Given the description of an element on the screen output the (x, y) to click on. 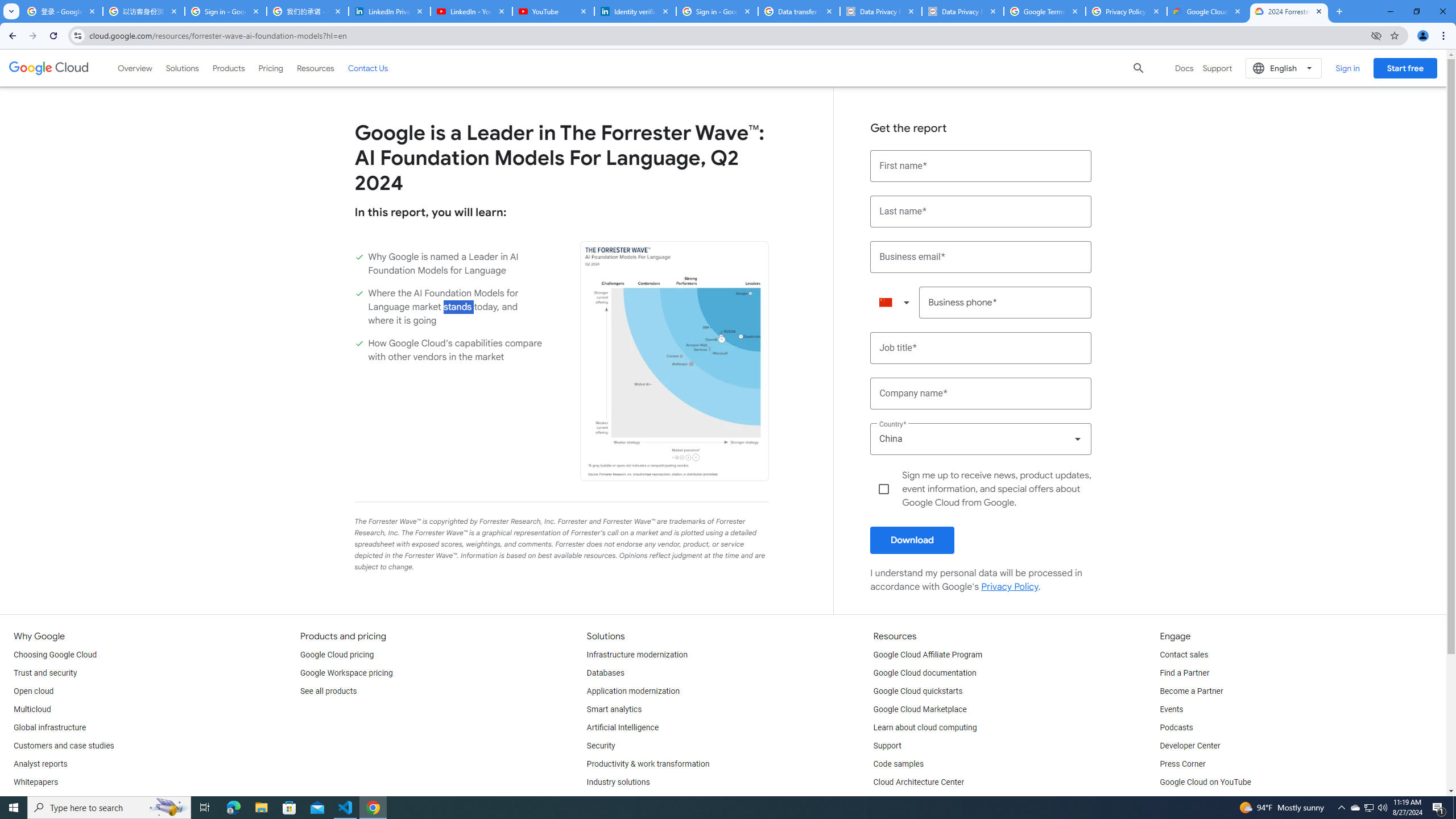
Productivity & work transformation (648, 764)
Security (600, 746)
Google Workspace pricing (346, 673)
Podcasts (1175, 728)
Google Cloud pricing (336, 655)
Country China (981, 439)
Contact sales (1183, 655)
Whitepapers (35, 782)
Application modernization (632, 691)
